Given the description of an element on the screen output the (x, y) to click on. 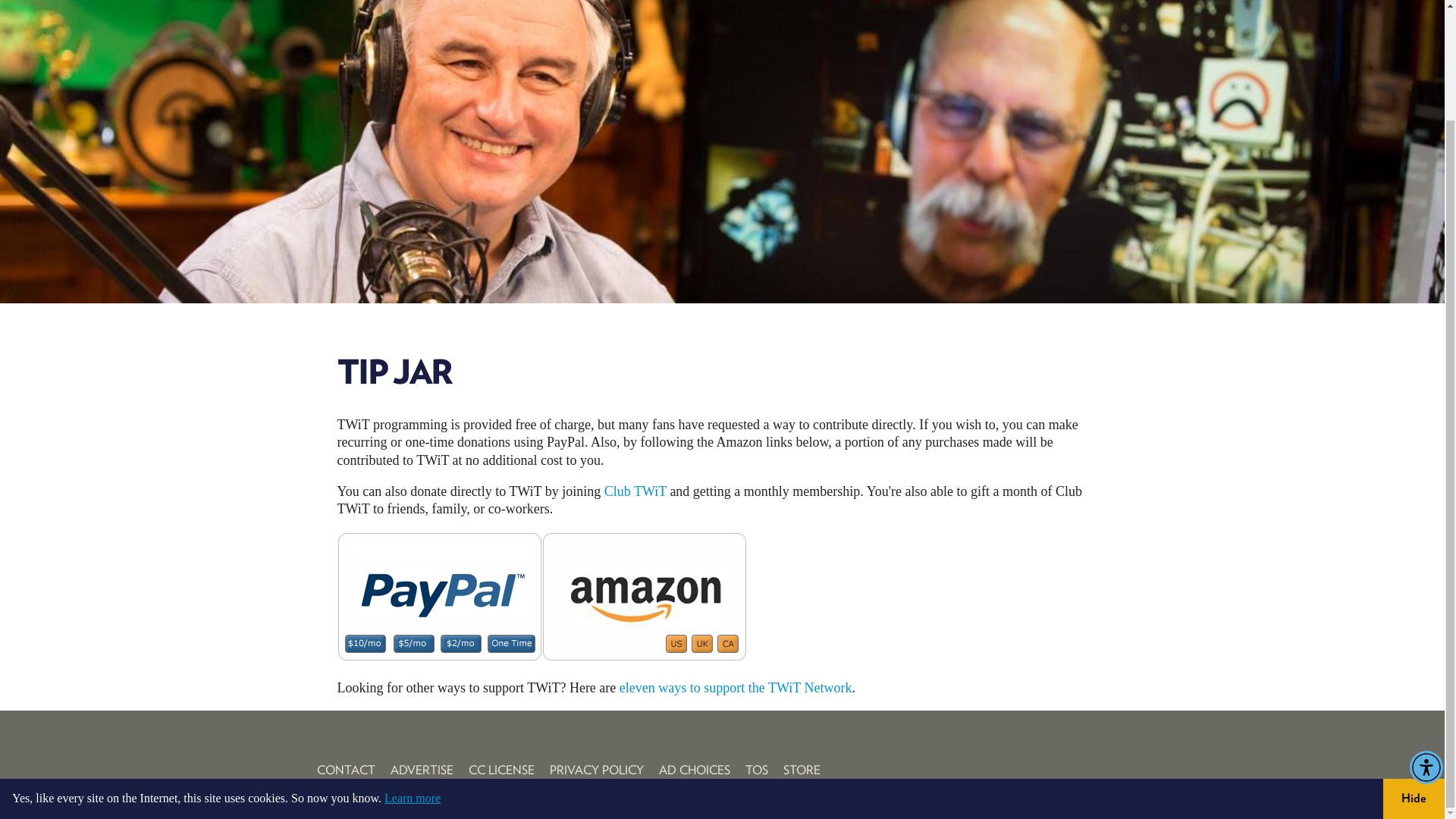
PRIVACY POLICY (595, 770)
CONTACT (346, 770)
Accessibility Menu (1425, 637)
TOS (755, 770)
CC LICENSE (501, 770)
eleven ways to support the TWiT Network (735, 687)
ADVERTISE (421, 770)
STORE (801, 770)
AD CHOICES (693, 770)
Learn more (412, 667)
Club TWiT (635, 491)
